Given the description of an element on the screen output the (x, y) to click on. 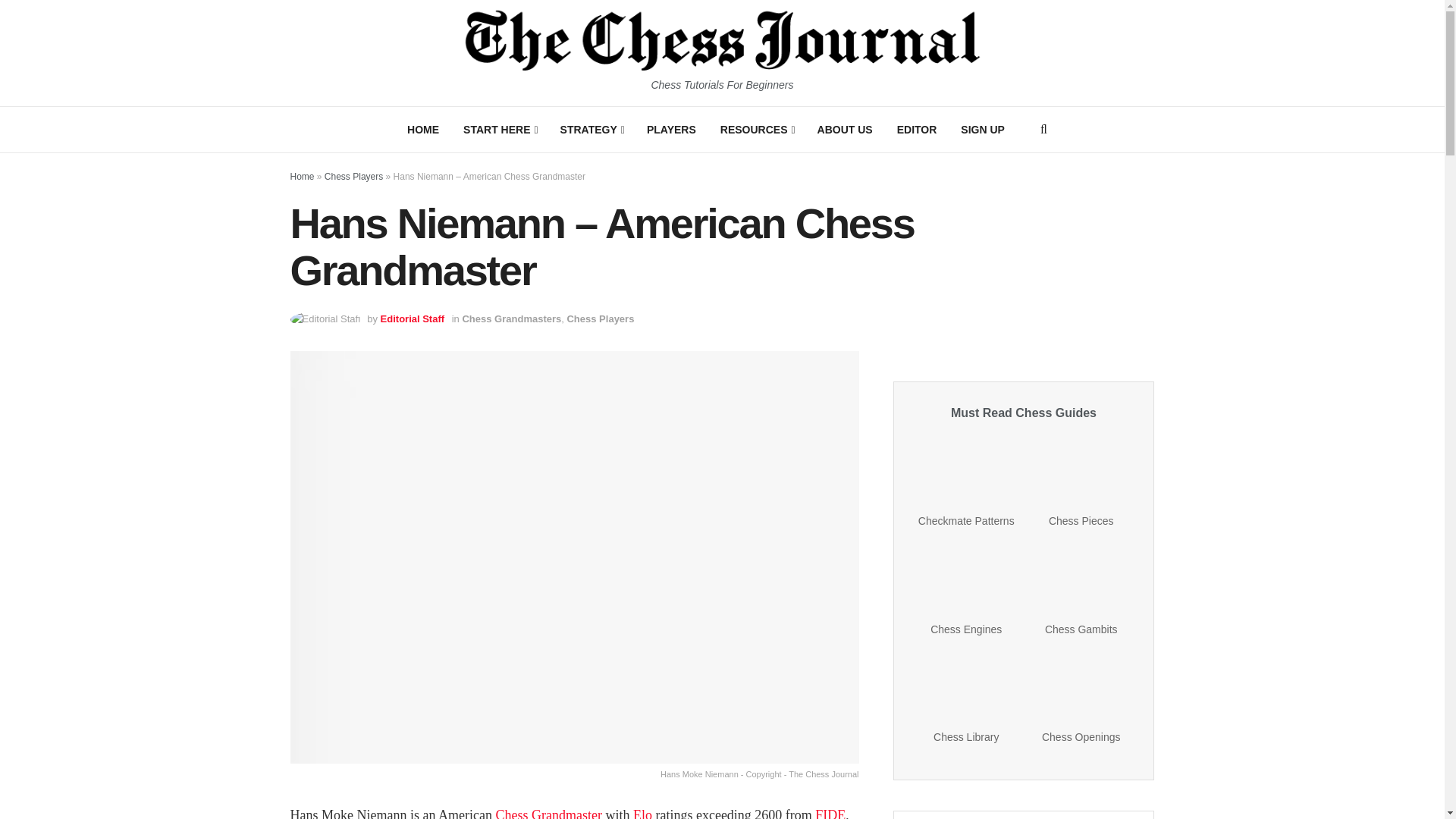
ABOUT US (845, 129)
RESOURCES (756, 129)
START HERE (499, 129)
SIGN UP (982, 129)
HOME (422, 129)
EDITOR (917, 129)
PLAYERS (670, 129)
STRATEGY (591, 129)
